Given the description of an element on the screen output the (x, y) to click on. 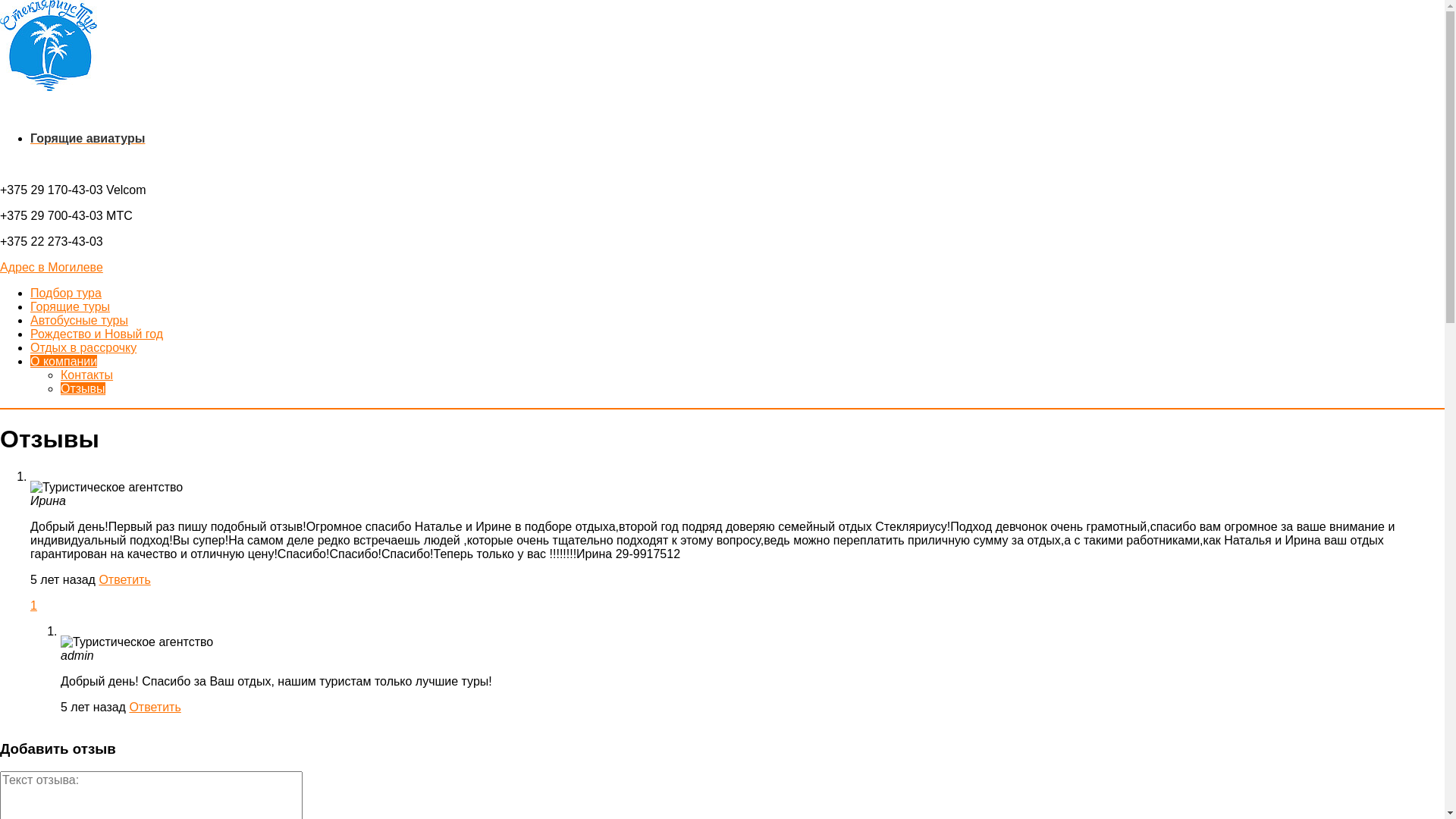
1 Element type: text (33, 605)
